Given the description of an element on the screen output the (x, y) to click on. 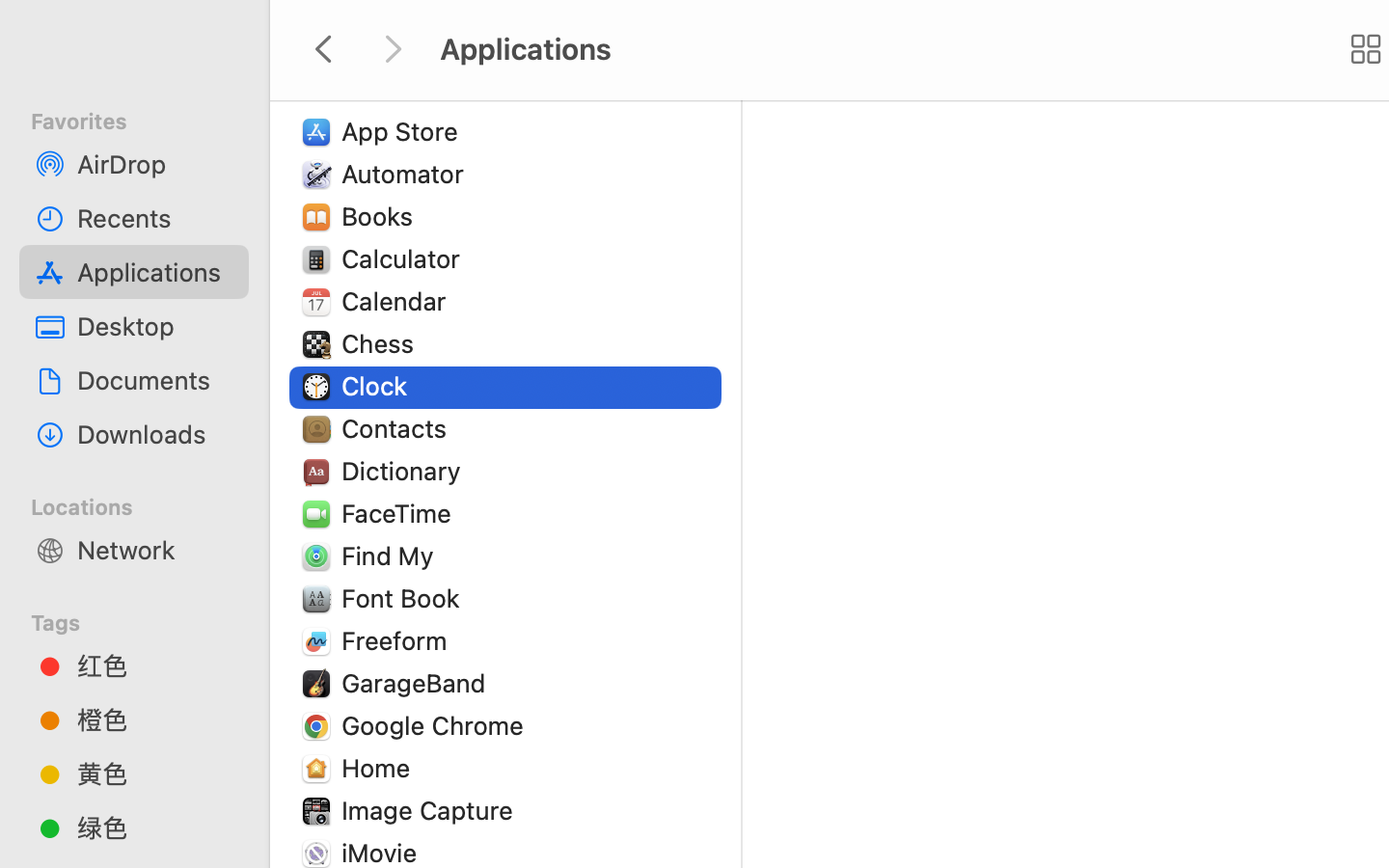
Favorites Element type: AXStaticText (145, 118)
App Store Element type: AXTextField (403, 130)
Network Element type: AXStaticText (155, 549)
Tags Element type: AXStaticText (145, 619)
AirDrop Element type: AXStaticText (155, 163)
